Given the description of an element on the screen output the (x, y) to click on. 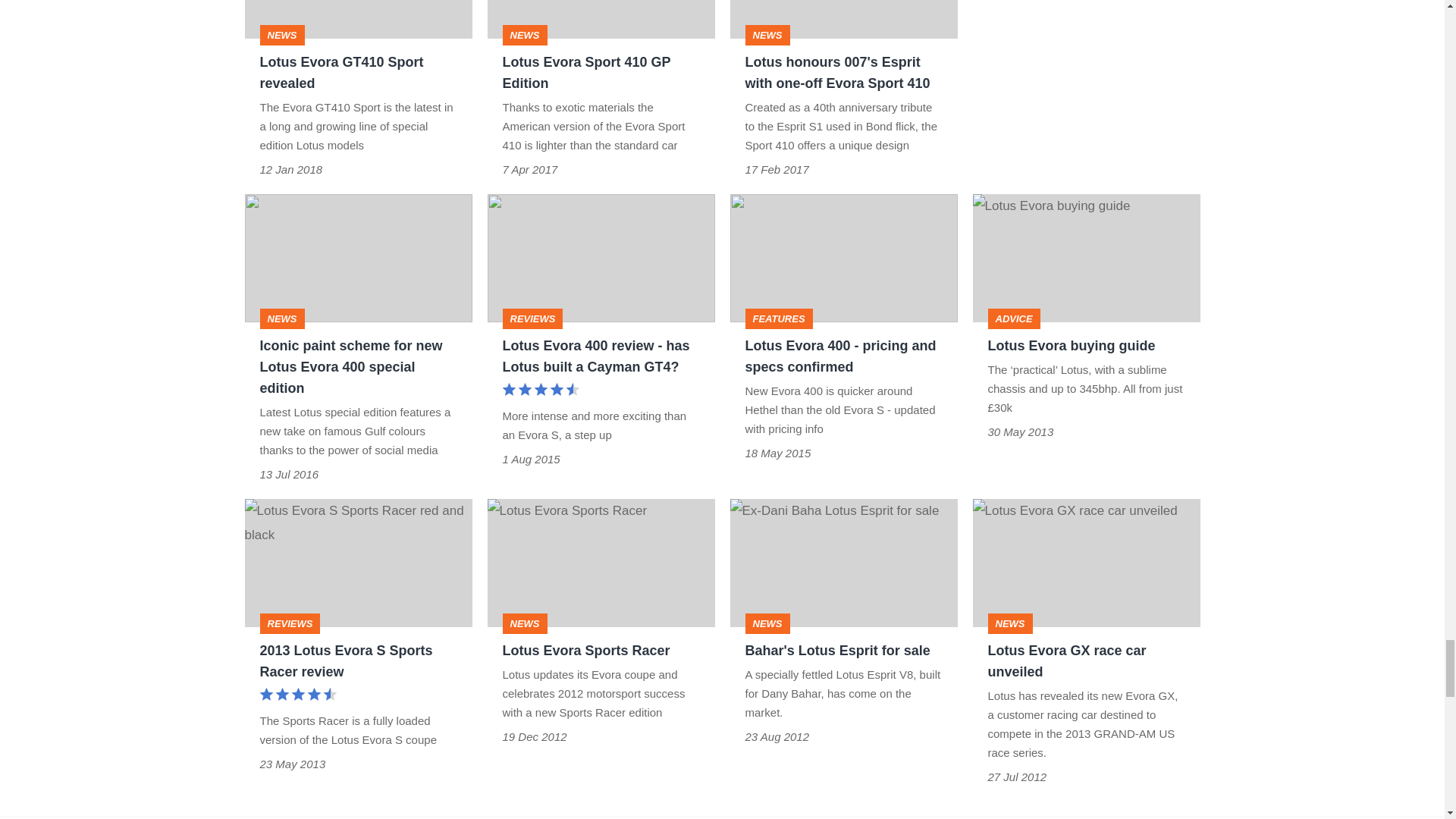
4.5 Stars (297, 695)
4.5 Stars (540, 391)
